Given the description of an element on the screen output the (x, y) to click on. 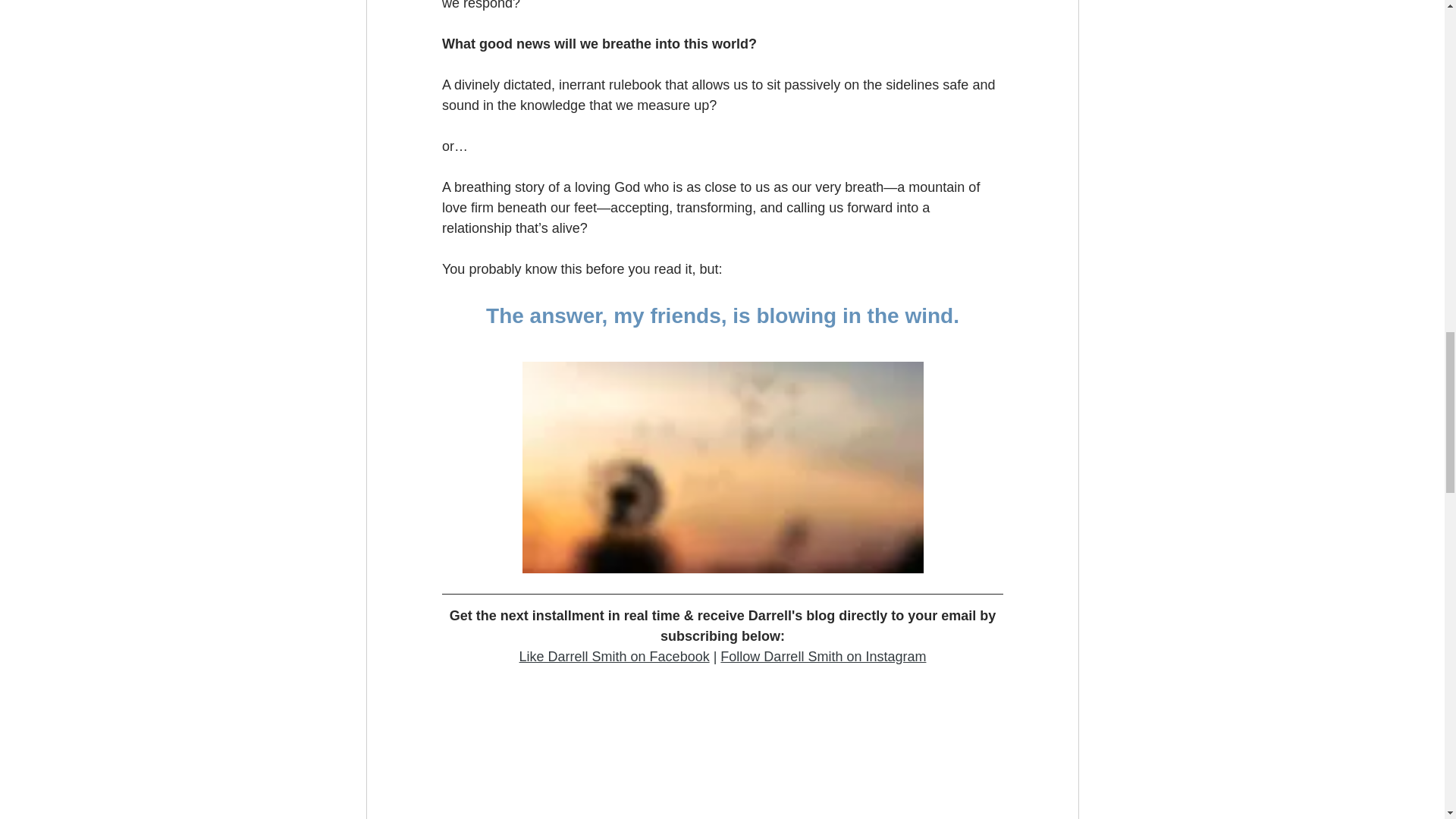
Follow Darrell Smith on Instagram (823, 656)
Like Darrell Smith on Facebook (613, 656)
